Given the description of an element on the screen output the (x, y) to click on. 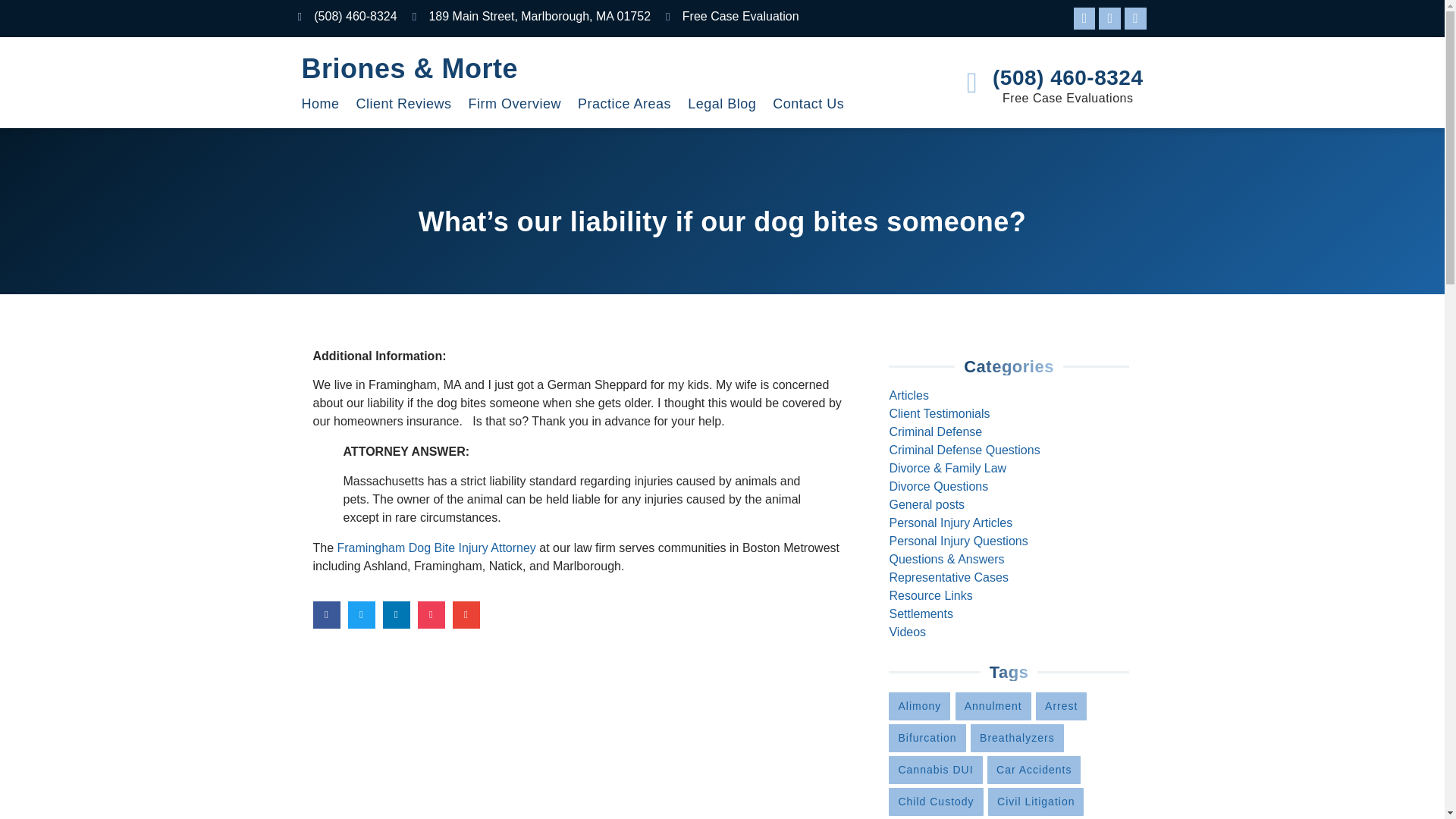
Articles (908, 395)
Practice Areas (624, 104)
Legal Blog (721, 104)
Free Case Evaluation (732, 16)
189 Main Street, Marlborough, MA 01752 (531, 16)
Firm Overview (515, 104)
Framingham Dog Bite Injury Attorney (436, 547)
Client Testimonials (939, 413)
Home (320, 104)
Contact Us (808, 104)
Client Reviews (403, 104)
